Given the description of an element on the screen output the (x, y) to click on. 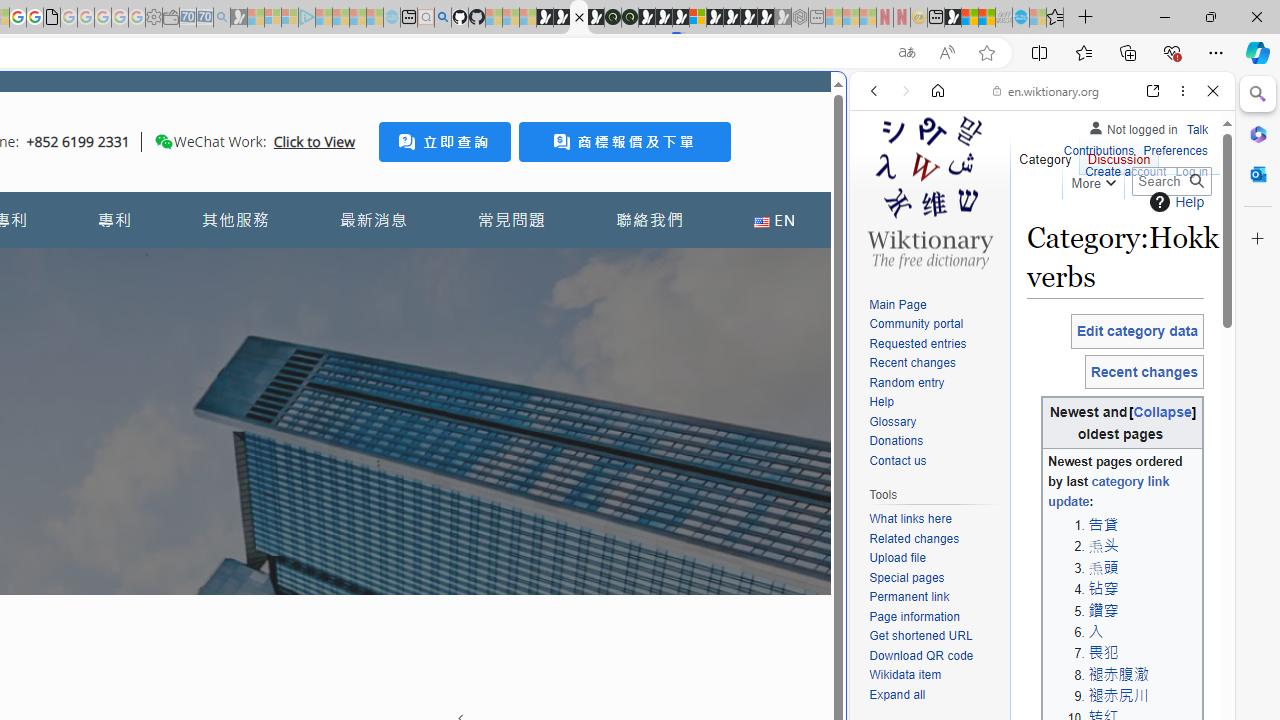
github - Search (442, 17)
Special pages (934, 578)
Discussion (1118, 154)
Permanent link (909, 596)
